Given the description of an element on the screen output the (x, y) to click on. 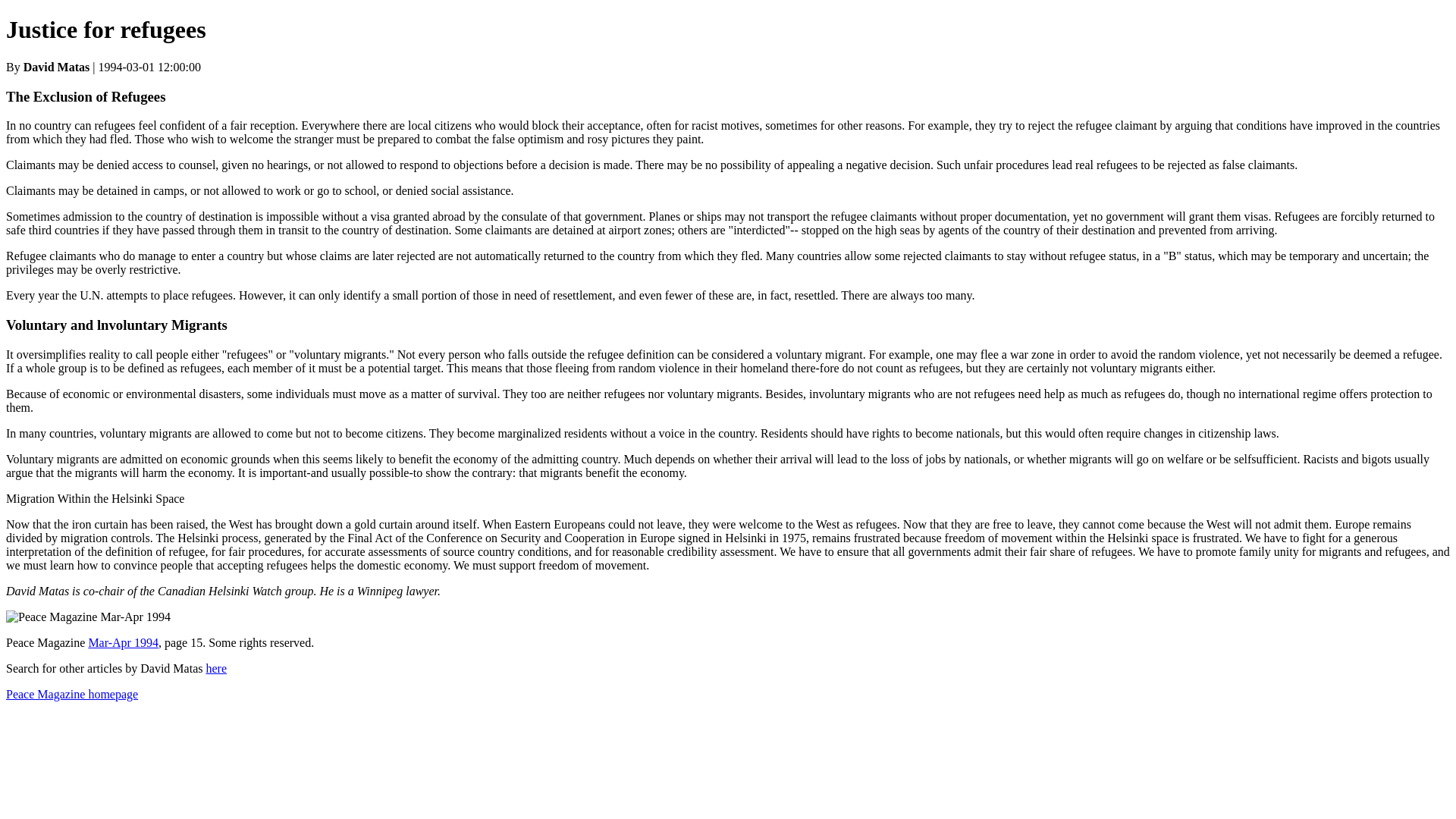
Mar-Apr 1994 (122, 642)
here (216, 667)
